Given the description of an element on the screen output the (x, y) to click on. 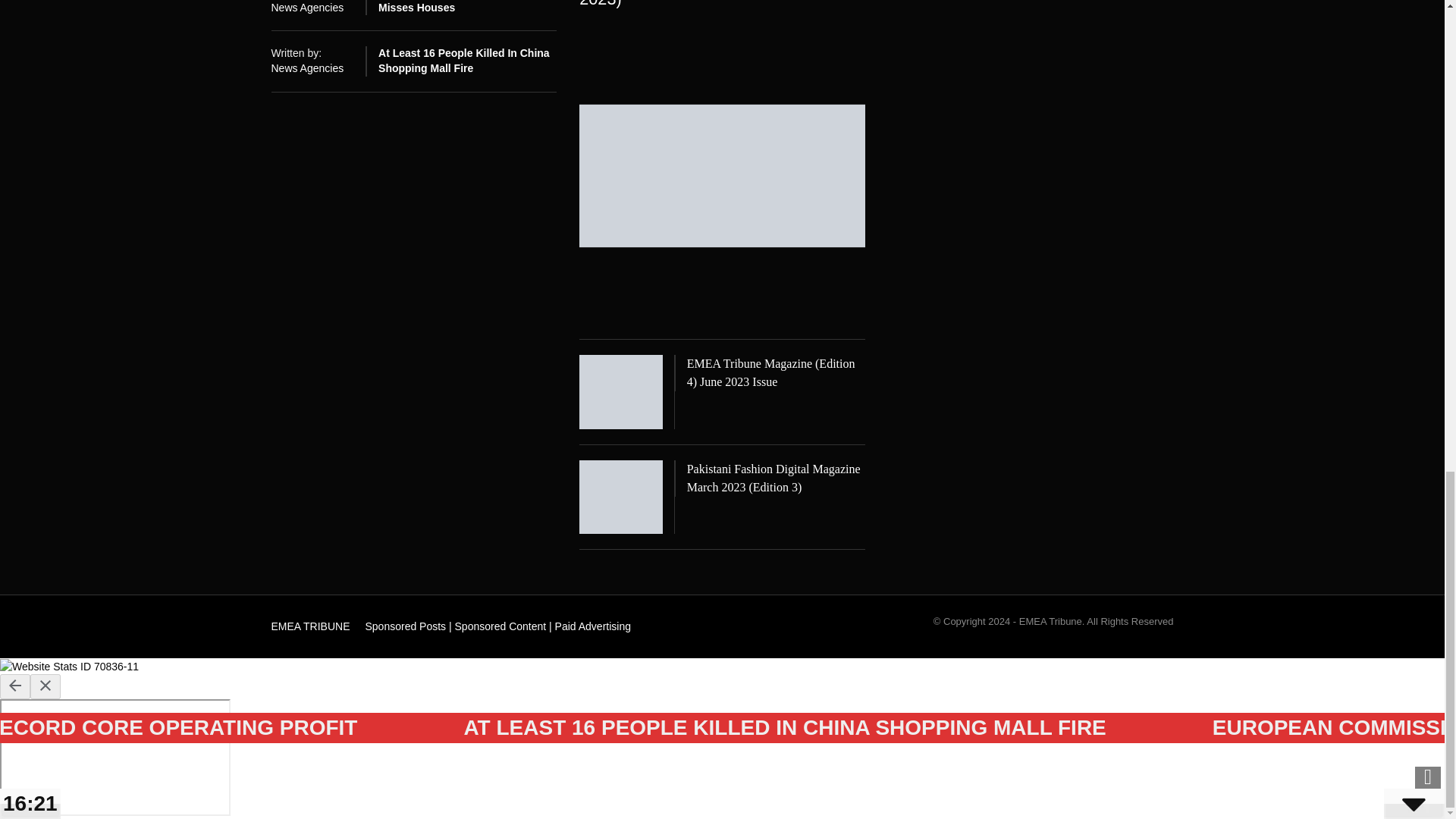
At least 16 people killed in China shopping mall fire (464, 60)
Skip to content (303, 621)
Video: Yemen rockslide narrowly misses houses (463, 6)
